Given the description of an element on the screen output the (x, y) to click on. 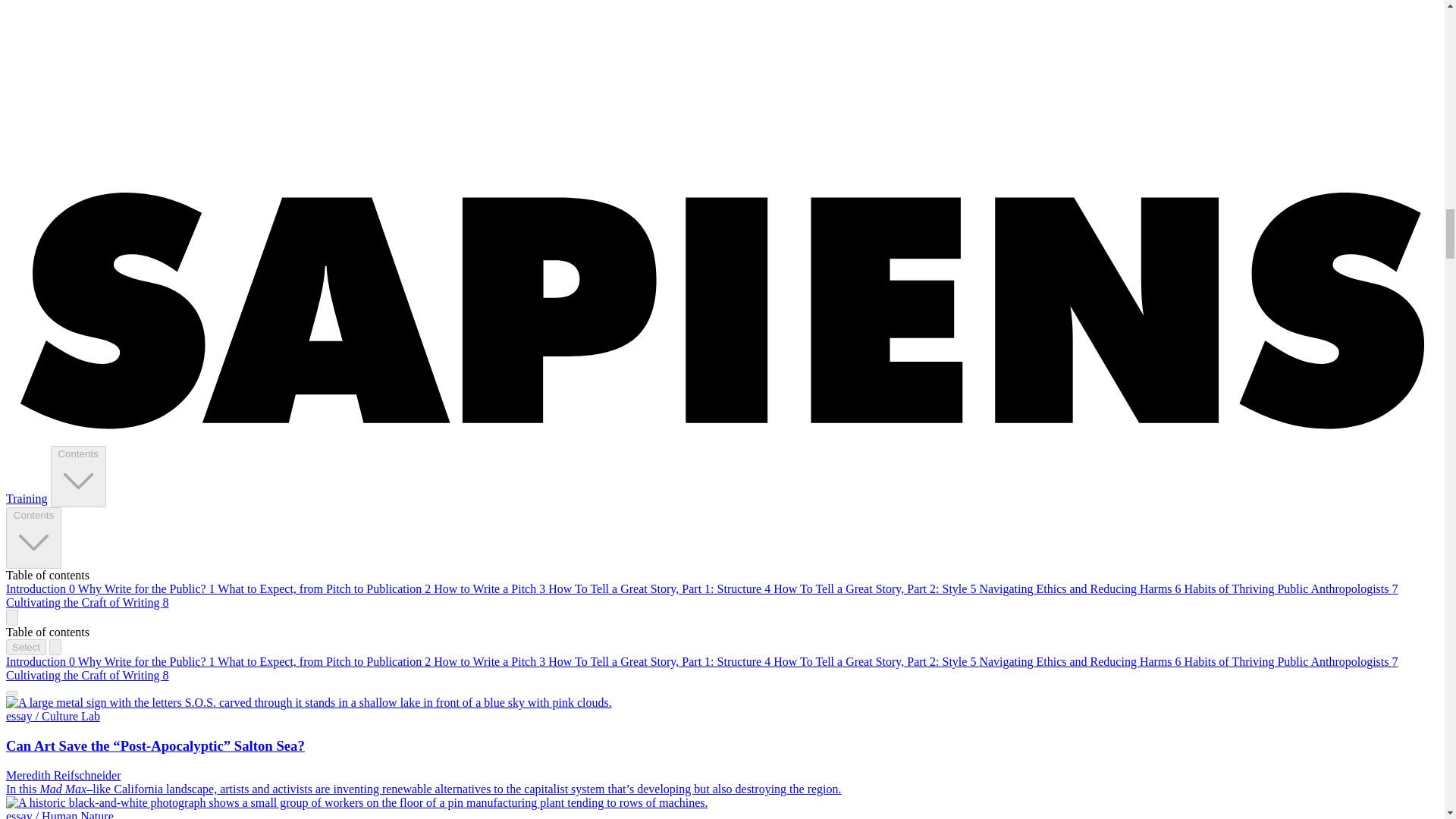
Introduction 0 (41, 661)
How To Tell a Great Story, Part 2: Style 5 (875, 588)
Why Write for the Public? 1 (148, 588)
How To Tell a Great Story, Part 1: Structure 4 (660, 661)
Navigating Ethics and Reducing Harms 6 (1080, 661)
Habits of Thriving Public Anthropologists 7 (1291, 588)
Select (25, 647)
Cultivating the Craft of Writing 8 (86, 602)
Contents (33, 537)
How To Tell a Great Story, Part 2: Style 5 (875, 661)
